Given the description of an element on the screen output the (x, y) to click on. 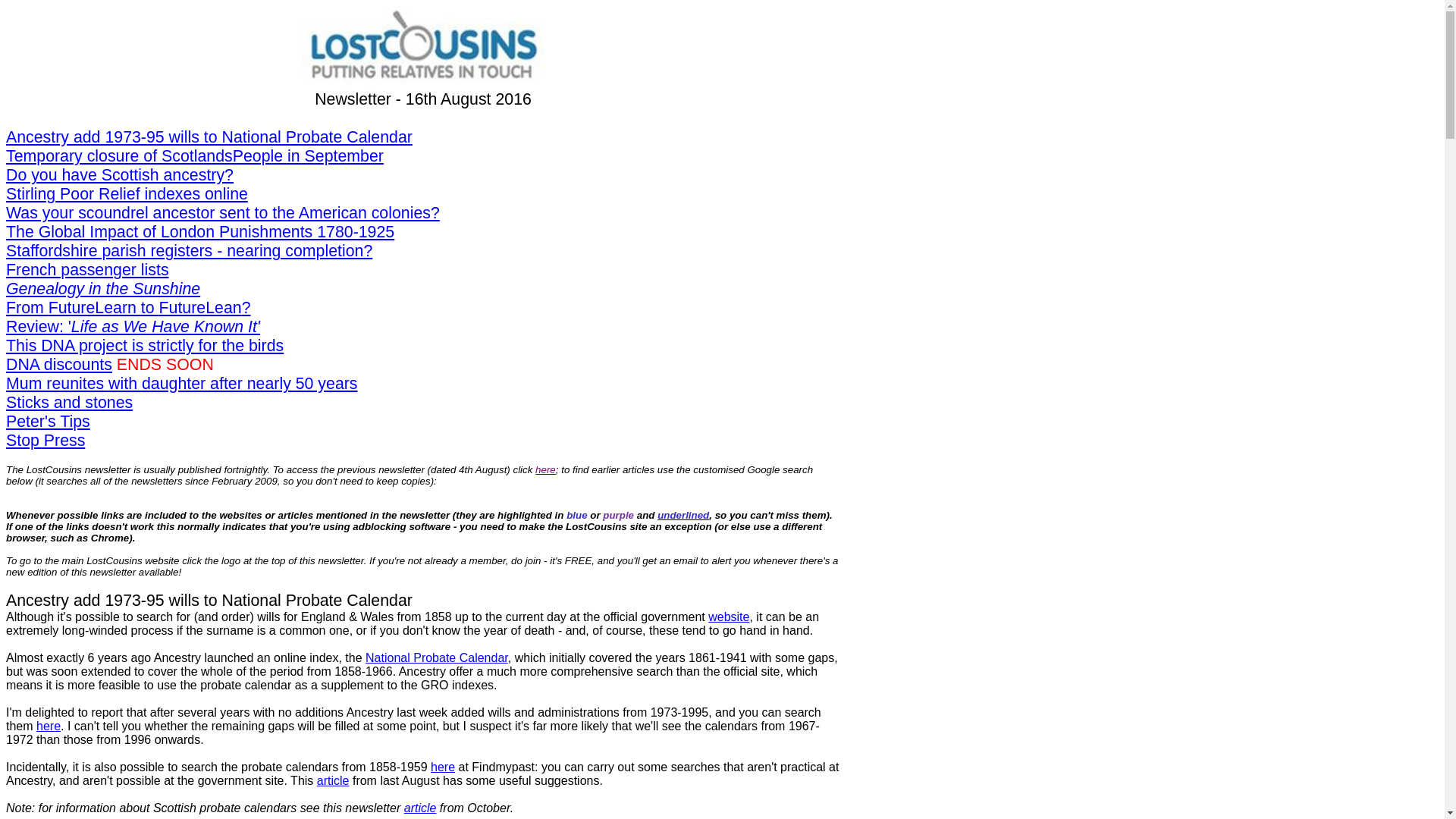
From FutureLearn to FutureLean? (127, 307)
here (48, 725)
article (420, 807)
DNA discounts (58, 364)
article (333, 780)
Sticks and stones (68, 402)
Mum reunites with daughter after nearly 50 years (181, 383)
Was your scoundrel ancestor sent to the American colonies? (222, 212)
French passenger lists (86, 270)
Stirling Poor Relief indexes online (126, 194)
